Given the description of an element on the screen output the (x, y) to click on. 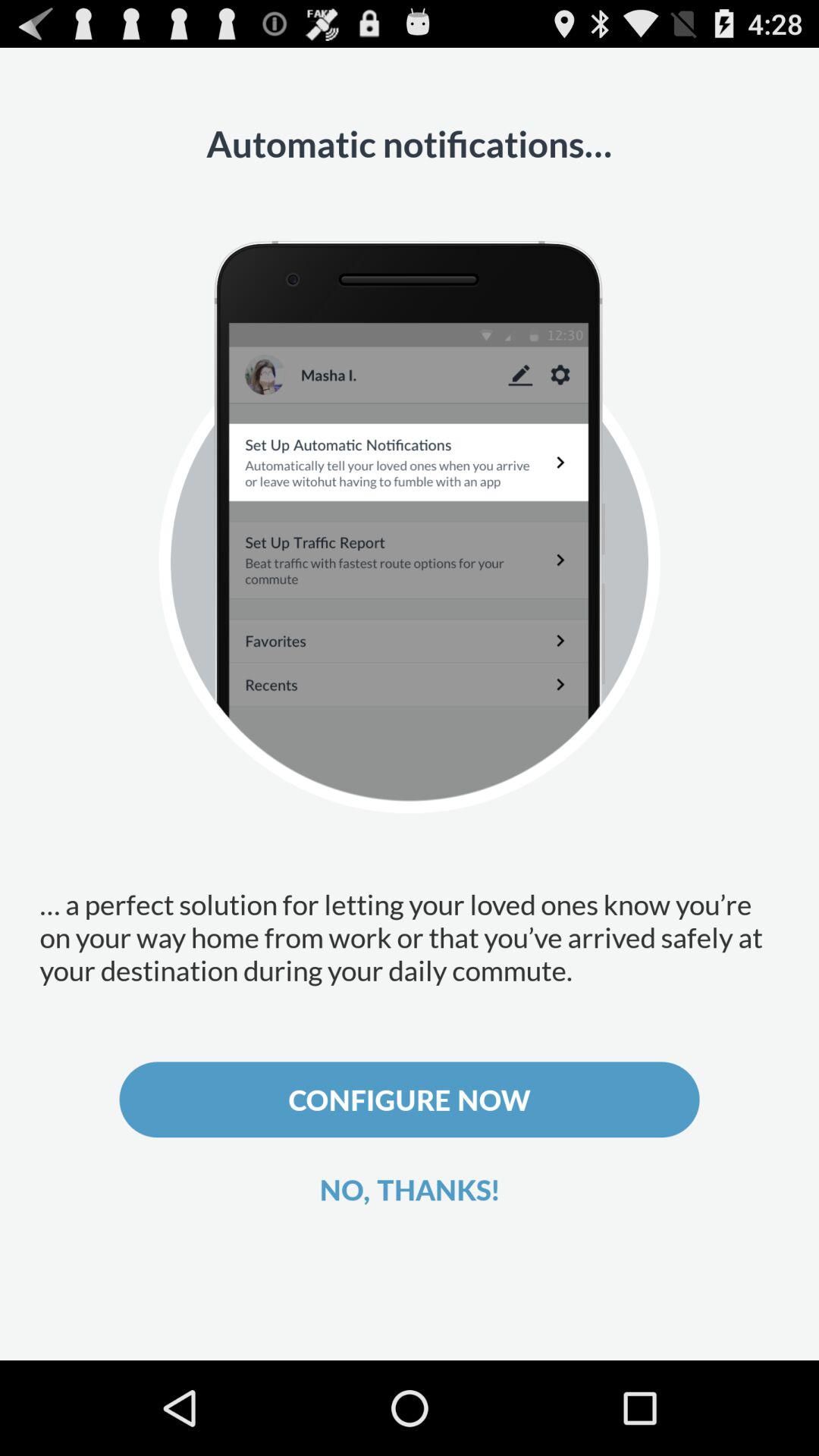
turn on the icon above the no, thanks! (409, 1099)
